Given the description of an element on the screen output the (x, y) to click on. 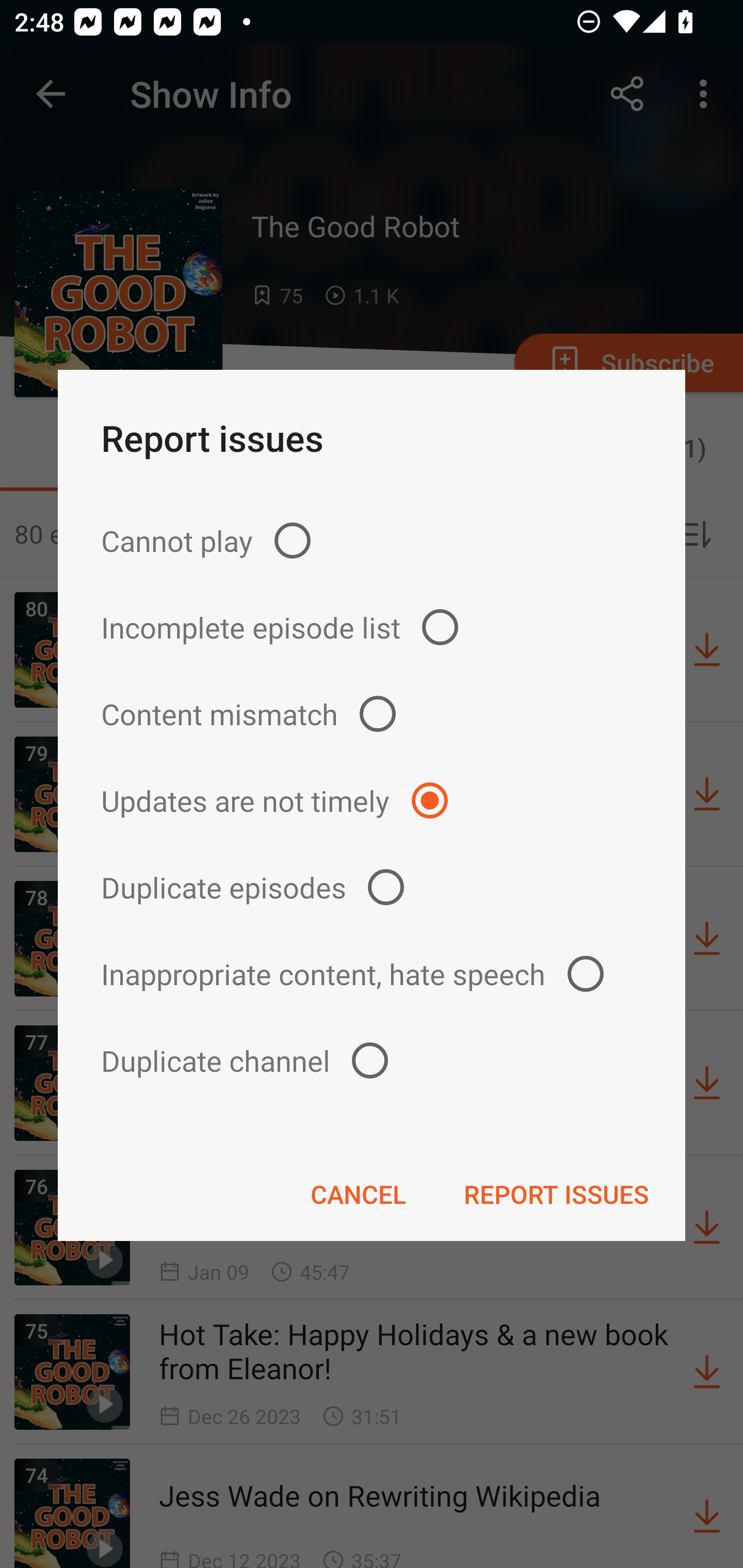
Cannot play (371, 540)
Incomplete episode list (371, 627)
Content mismatch (371, 714)
Updates are not timely (371, 800)
Duplicate episodes (371, 886)
Inappropriate content, hate speech (371, 973)
Duplicate channel (371, 1060)
CANCEL (357, 1193)
REPORT ISSUES (555, 1193)
